Given the description of an element on the screen output the (x, y) to click on. 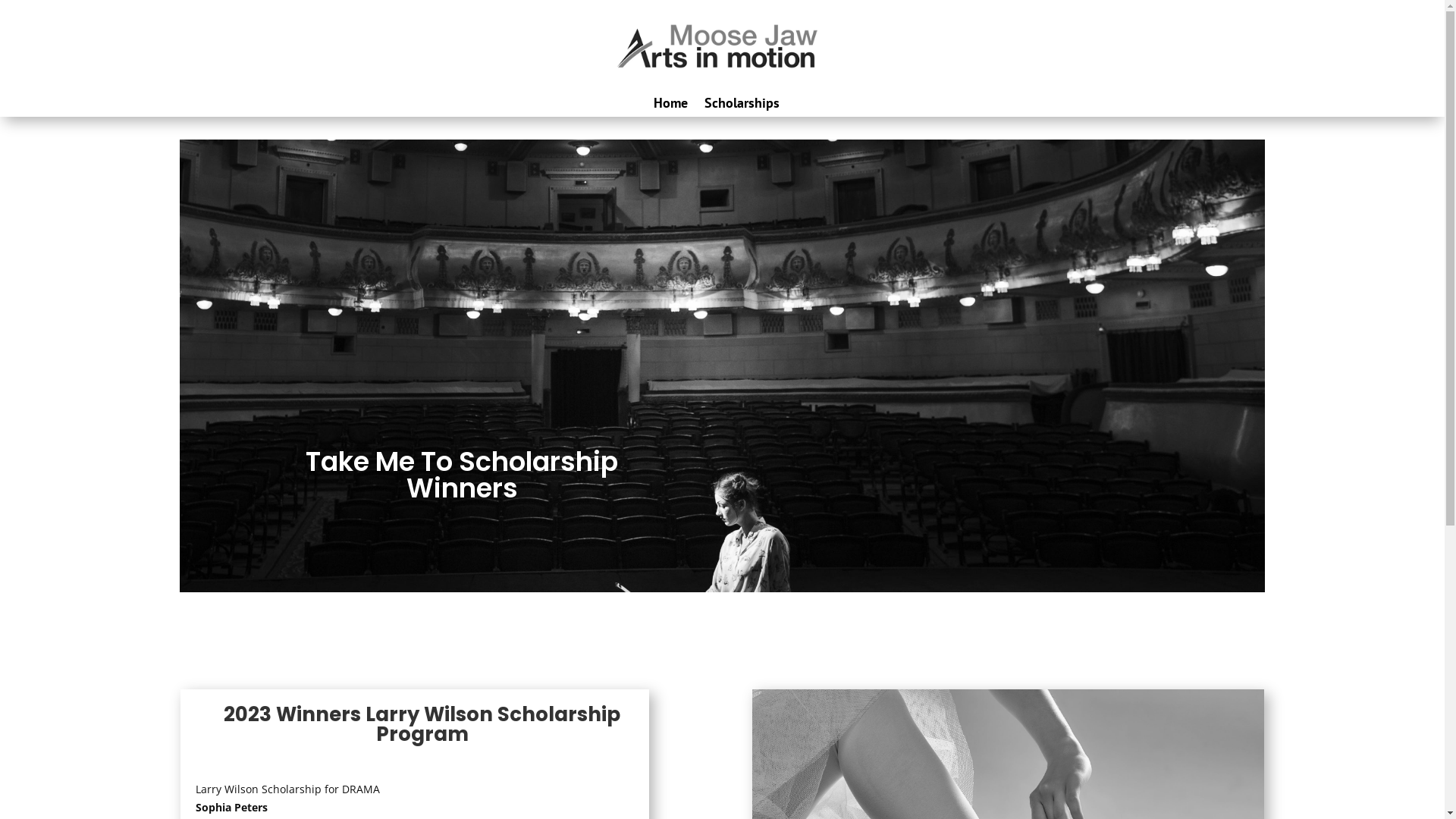
Home Element type: text (670, 102)
Scholarships Element type: text (741, 102)
